Given the description of an element on the screen output the (x, y) to click on. 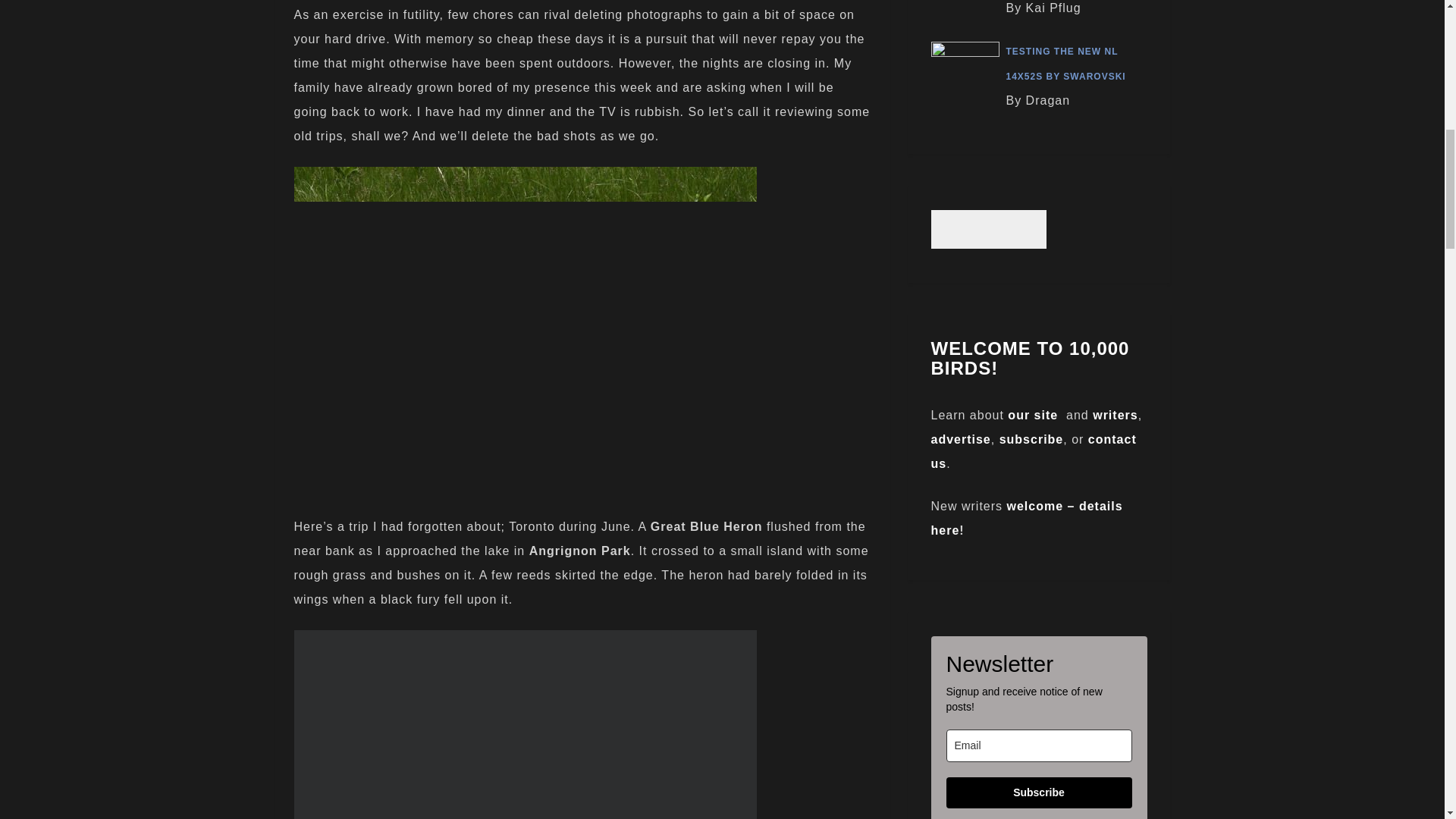
About the 10,000 Birds Beat Writers (1115, 414)
About 10,000 Birds (1032, 414)
Contact (1034, 451)
